Given the description of an element on the screen output the (x, y) to click on. 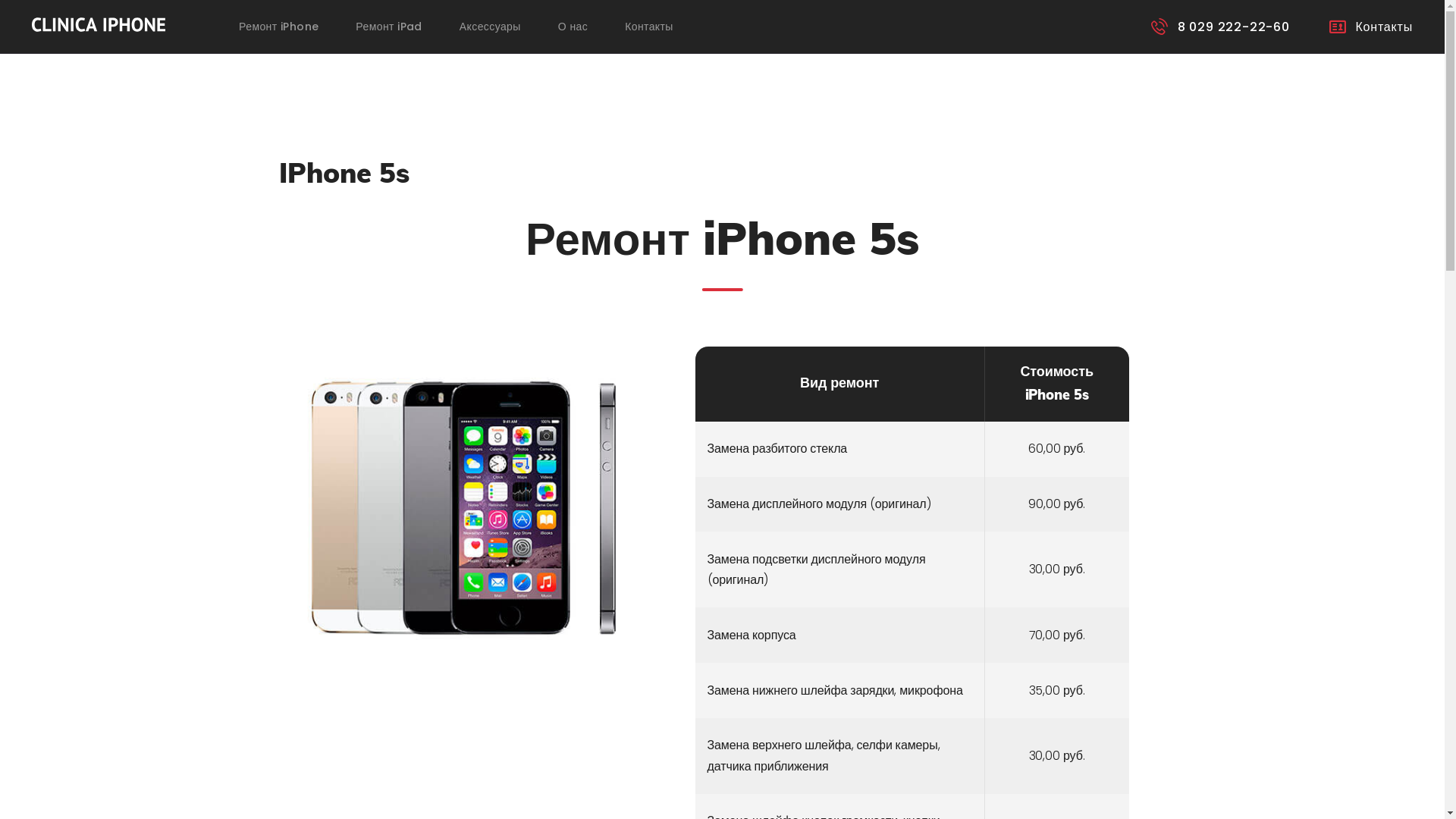
8 029 222-22-60 Element type: text (1220, 26)
